Given the description of an element on the screen output the (x, y) to click on. 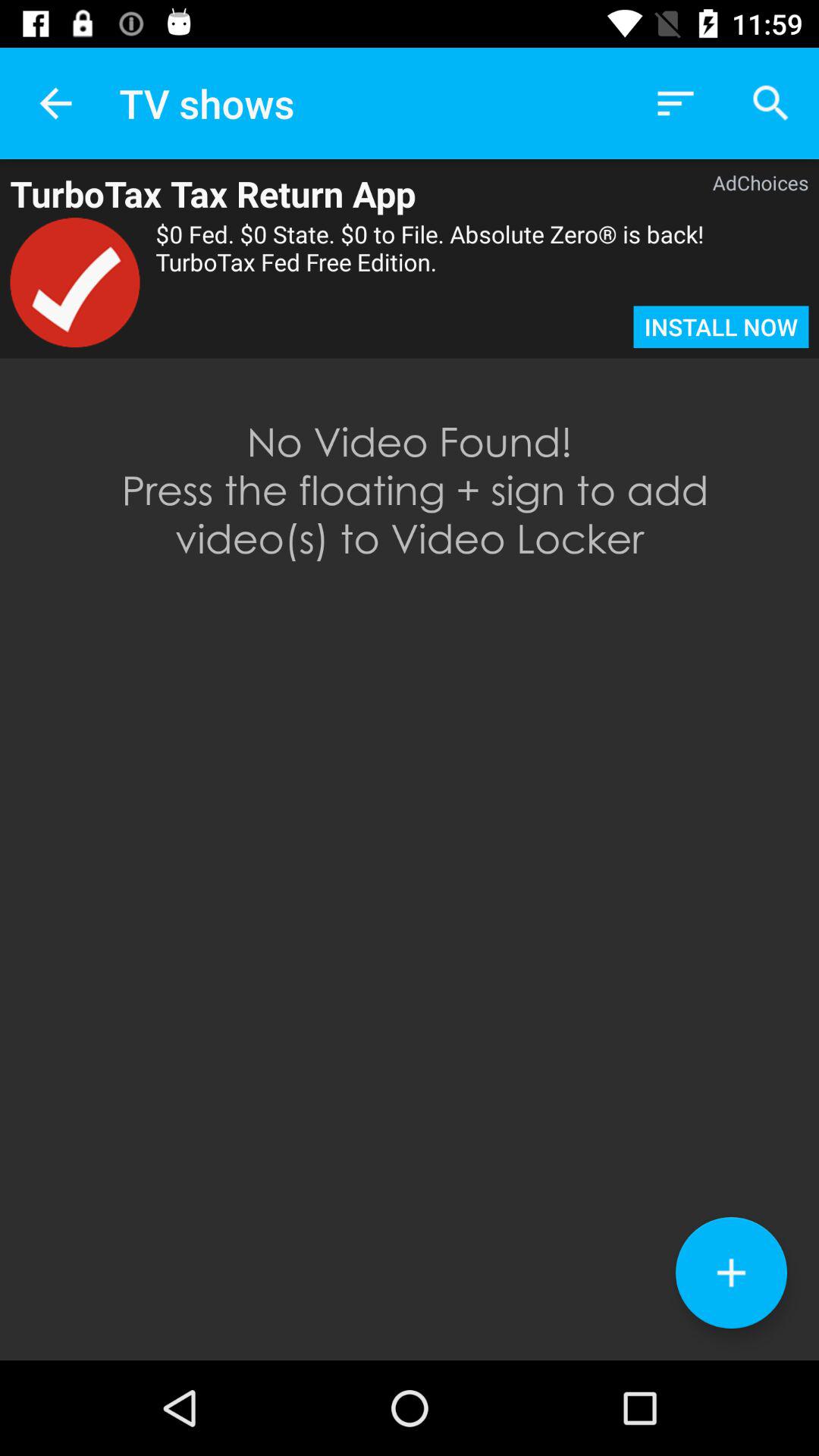
turn on item below the install now icon (731, 1272)
